Given the description of an element on the screen output the (x, y) to click on. 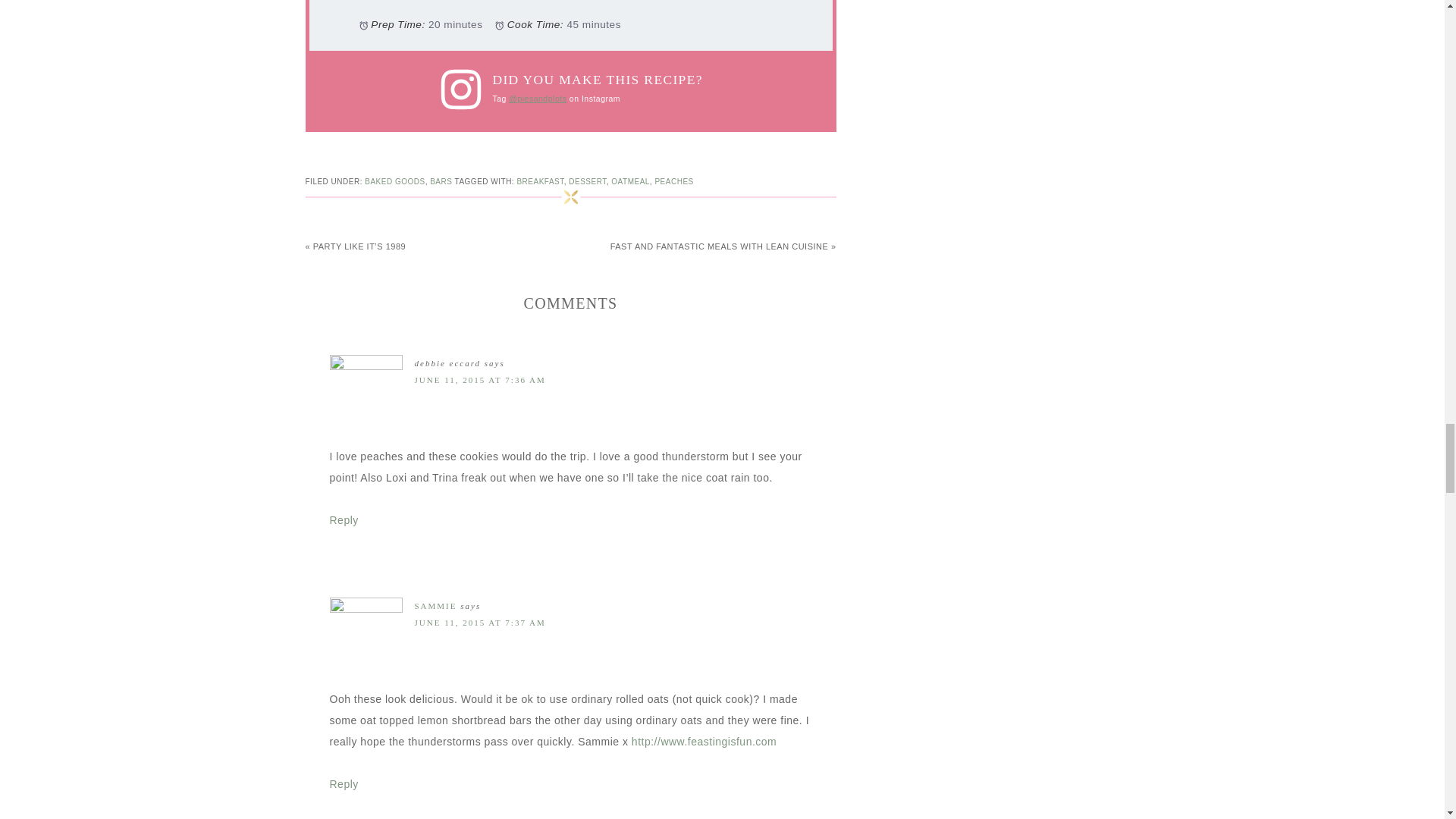
JUNE 11, 2015 AT 7:36 AM (478, 379)
BREAKFAST (539, 181)
BAKED GOODS (395, 181)
Reply (343, 520)
PEACHES (673, 181)
DESSERT (587, 181)
OATMEAL (630, 181)
JUNE 11, 2015 AT 7:37 AM (478, 622)
Reply (343, 784)
BARS (440, 181)
